Given the description of an element on the screen output the (x, y) to click on. 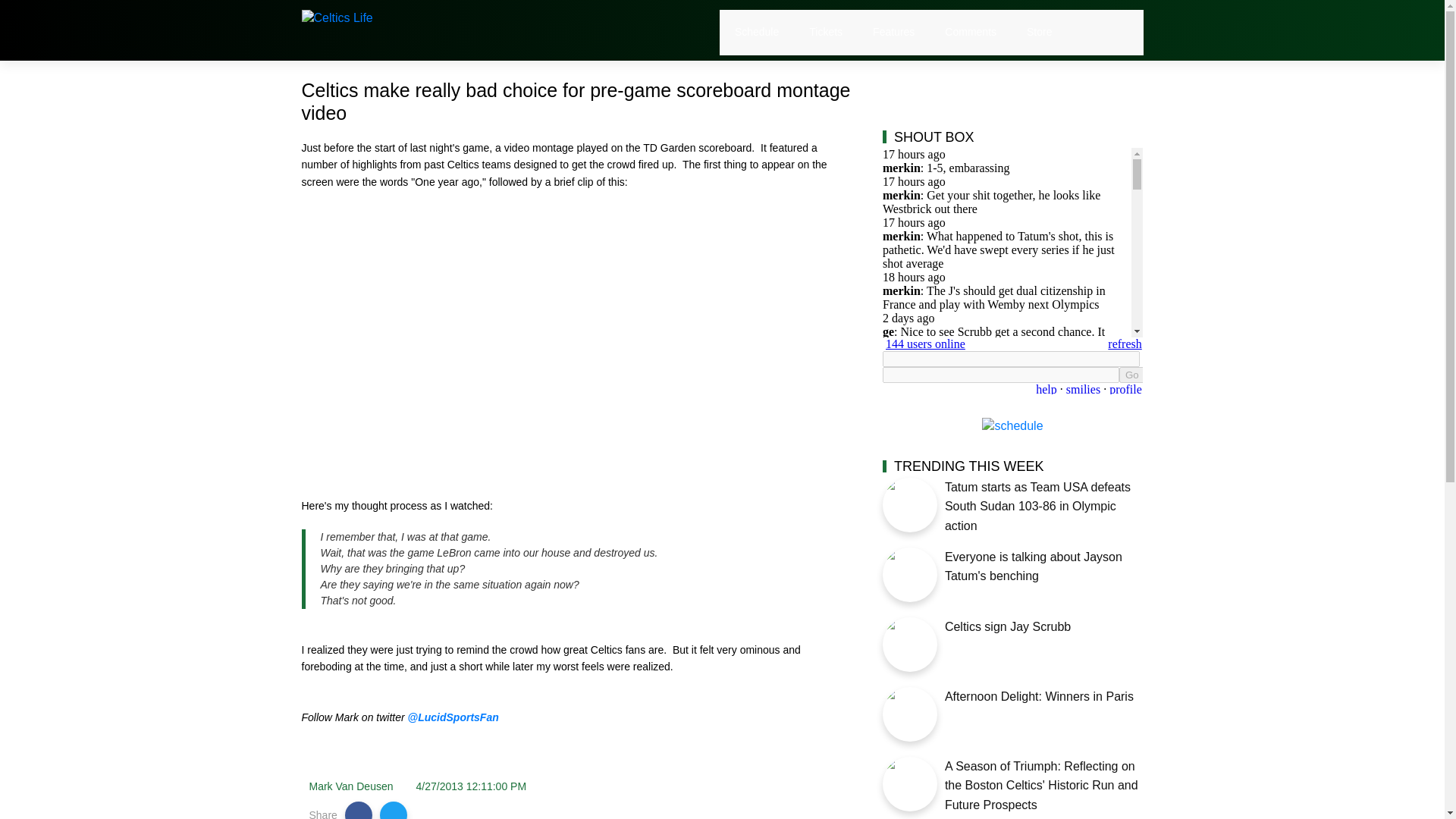
Share to Facebook (358, 810)
Share to Twitter (393, 810)
Features (893, 32)
Comments (969, 32)
permanent link (471, 786)
author profile (350, 786)
Mark Van Deusen (350, 786)
Schedule (756, 32)
